Given the description of an element on the screen output the (x, y) to click on. 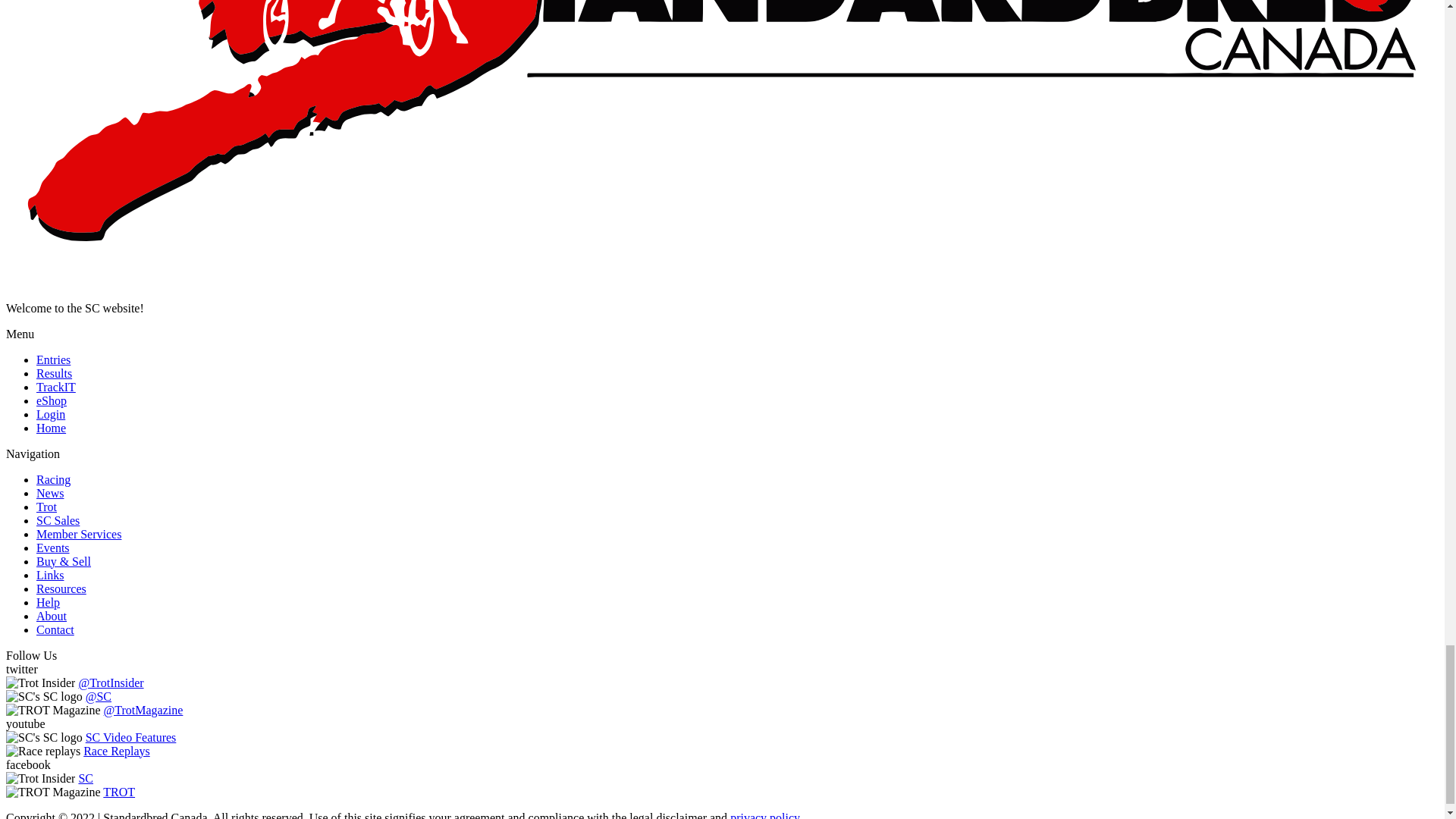
Homepage (50, 427)
